Given the description of an element on the screen output the (x, y) to click on. 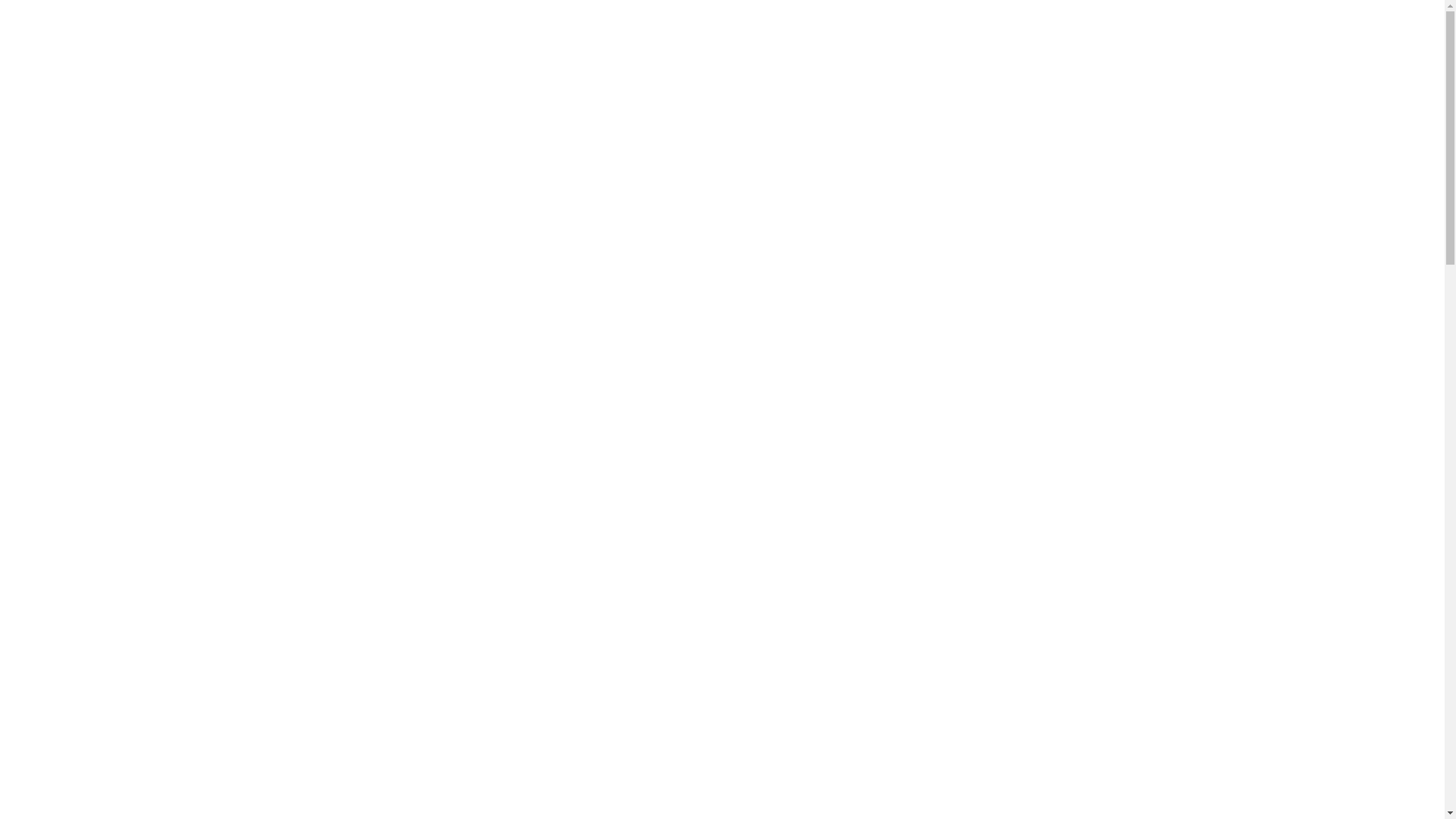
KIDS Element type: text (74, 330)
Blog Element type: text (337, 277)
MESSAGES Element type: text (64, 301)
Generosity Element type: text (352, 304)
EVENTS Element type: text (55, 287)
JOIN OUR TEAM Element type: text (109, 496)
Taylor Element type: text (341, 140)
Missions Element type: text (348, 332)
Saginaw Element type: text (346, 127)
Livonia Element type: text (345, 100)
Monroe Element type: text (345, 113)
Contribute Element type: text (321, 291)
Connect Element type: text (315, 209)
MISSIONS Element type: text (89, 451)
LANSING Element type: text (87, 181)
Groups Element type: text (343, 250)
Community Centers Element type: text (374, 168)
Next Steps Element type: text (352, 263)
Beliefs Element type: text (343, 386)
STUDENTS Element type: text (93, 346)
Home Element type: text (310, 18)
GENEROSITY Element type: text (100, 421)
SERVING Element type: text (87, 436)
Events Element type: text (312, 181)
COMMUNITY CENTERS Element type: text (130, 272)
STAFF DIRECTORY Element type: text (116, 526)
Online Element type: text (342, 154)
Staff Directory Element type: text (362, 400)
About Us Element type: text (318, 345)
Messages Element type: text (318, 195)
Contact Element type: text (345, 359)
GROUPS Element type: text (86, 361)
CONTRIBUTE Element type: text (72, 406)
CONTACT Element type: text (91, 481)
ANN ARBOR Element type: text (97, 151)
ABOUT US Element type: text (63, 466)
pmarkrobb Element type: text (26, 671)
BLOG Element type: text (77, 391)
BELIEFS Element type: text (84, 511)
LIVONIA Element type: text (84, 196)
NEXT STEPS Element type: text (97, 376)
BRIGHTON Element type: text (92, 166)
Search Element type: text (159, 37)
MONROE Element type: text (88, 211)
Ann Arbor Element type: text (352, 59)
CONNECT Element type: text (62, 316)
Join Our Team Element type: text (362, 373)
TAYLOR Element type: text (85, 242)
Brighton Element type: text (347, 72)
Kids Element type: text (337, 222)
LOCATIONS Element type: text (67, 136)
Lansing Element type: text (345, 86)
Locations Element type: text (319, 45)
SAGINAW Element type: text (89, 227)
Students Element type: text (346, 236)
Serving Element type: text (345, 318)
ONLINE Element type: text (83, 257)
